Given the description of an element on the screen output the (x, y) to click on. 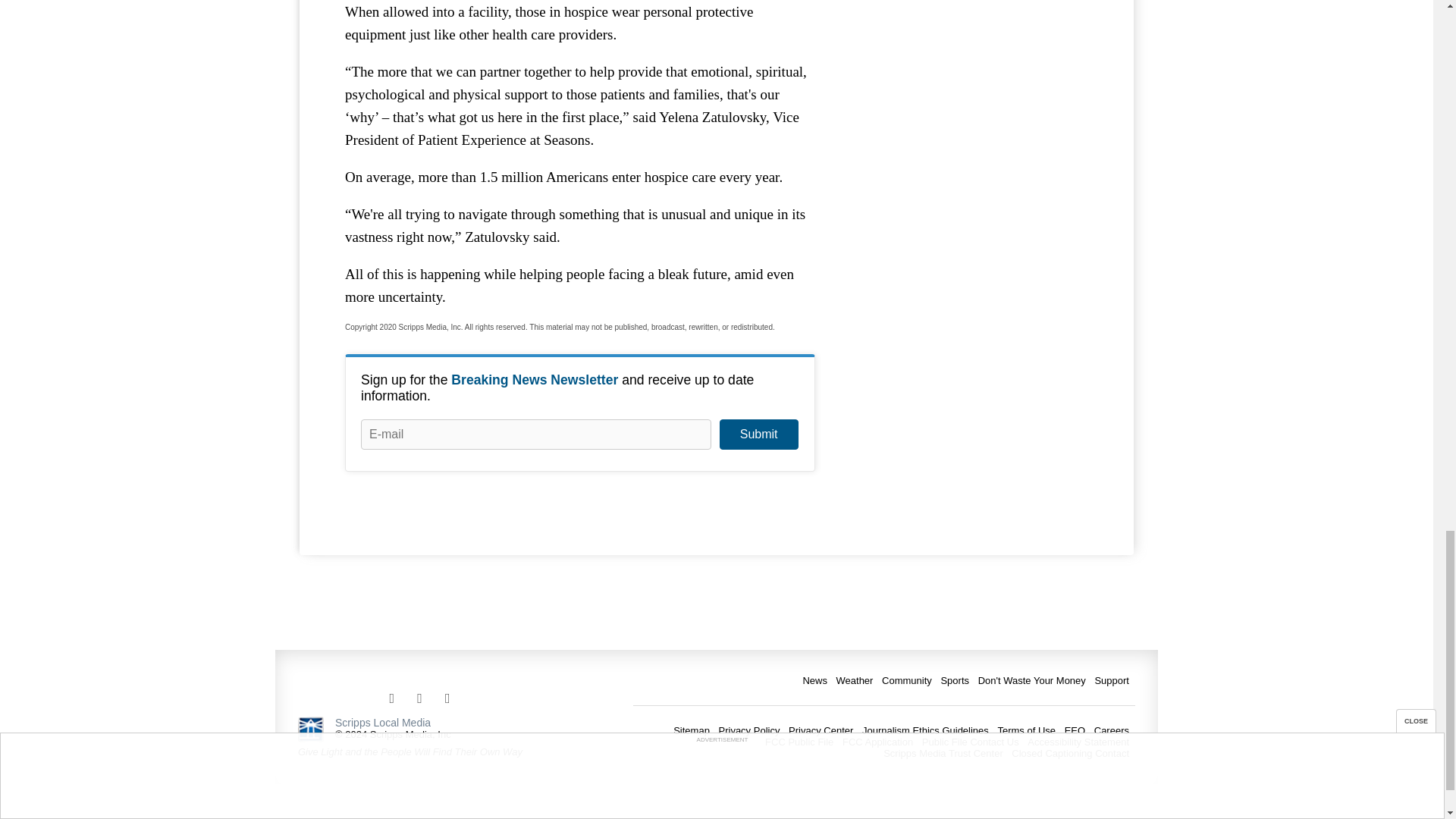
Submit (758, 434)
